Given the description of an element on the screen output the (x, y) to click on. 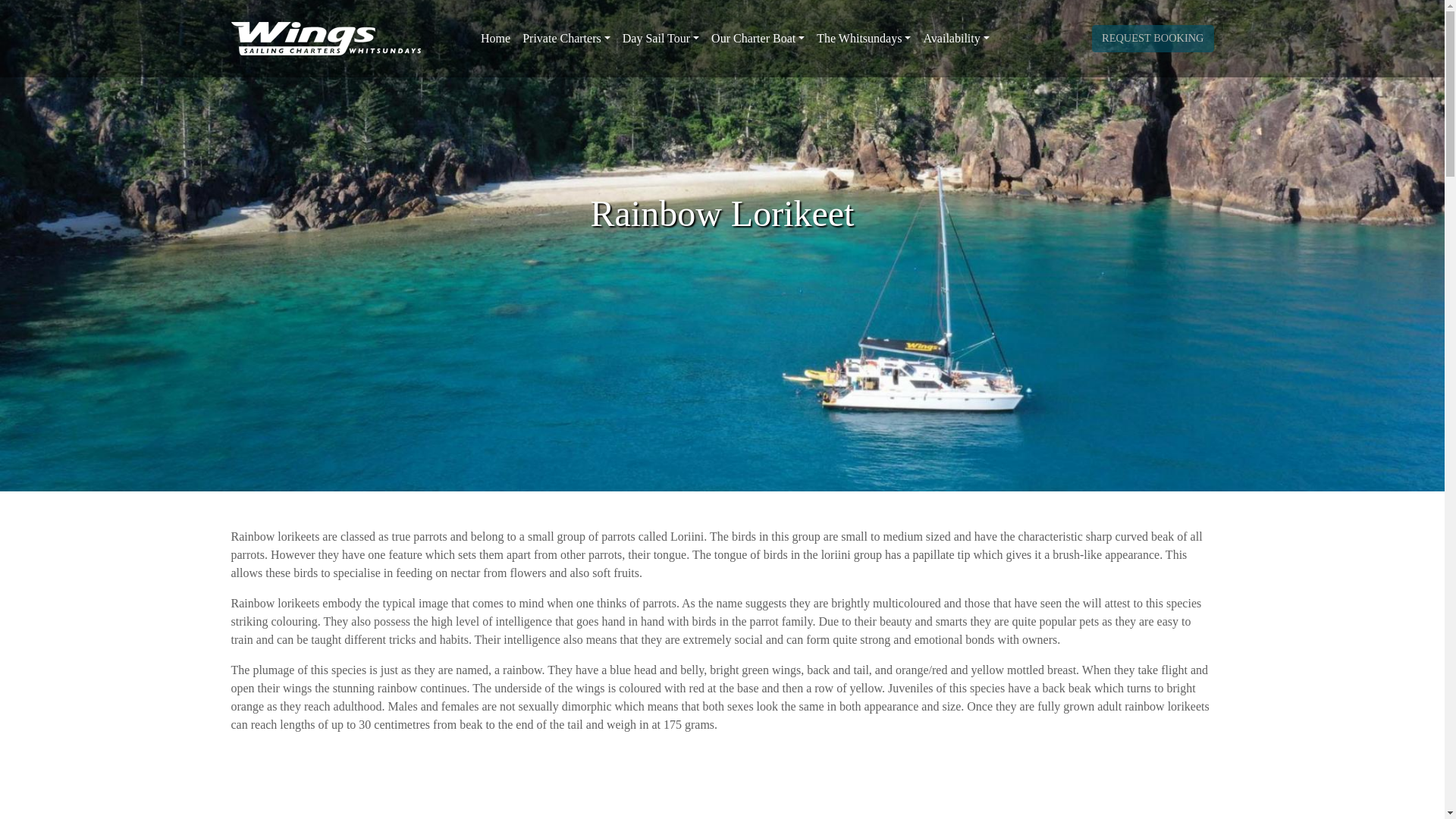
Private Charters (565, 38)
Home (495, 38)
Our Charter Boat (757, 38)
Day Sail Tour (659, 38)
